Given the description of an element on the screen output the (x, y) to click on. 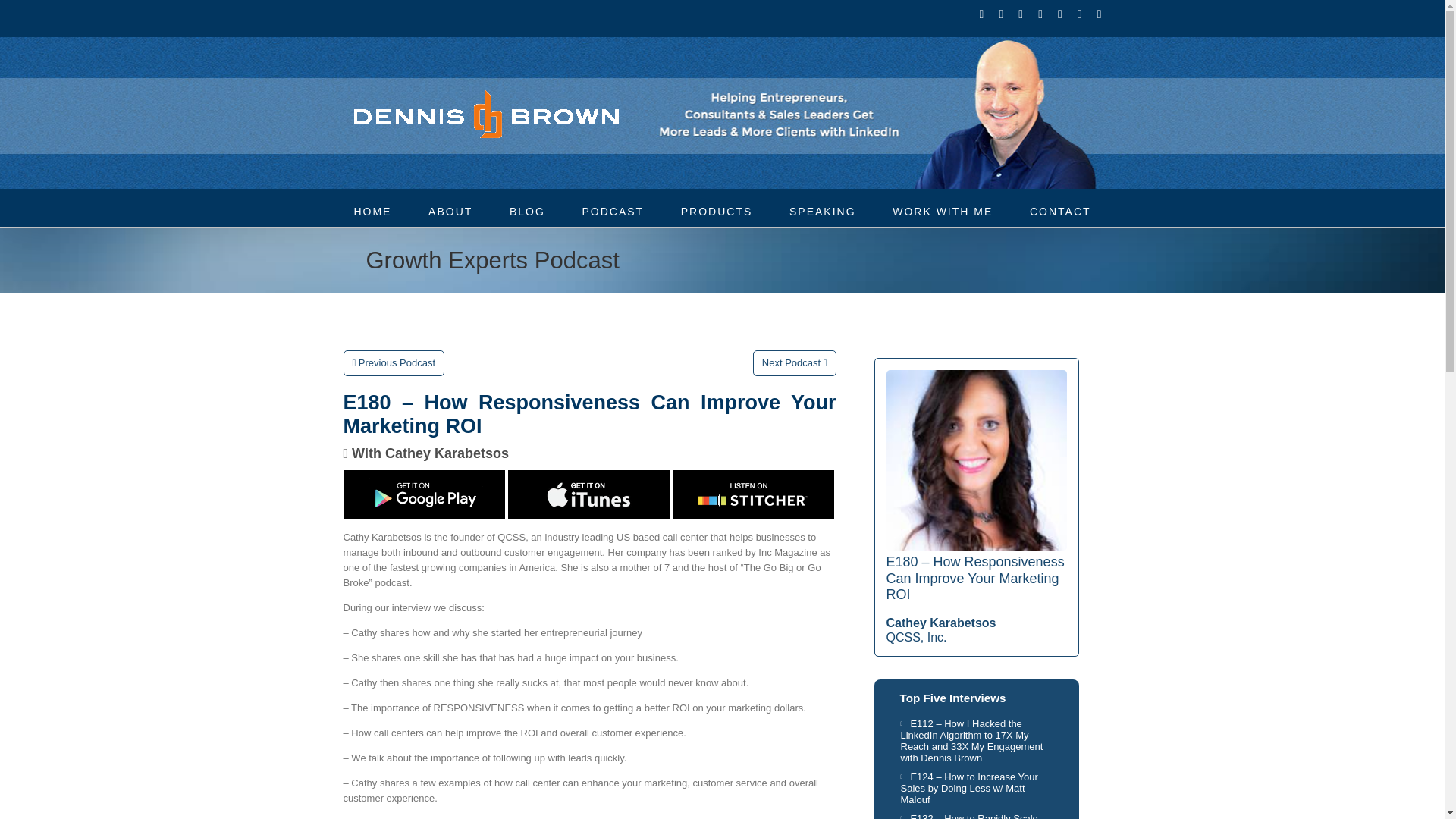
HOME (372, 210)
CONTACT (1059, 210)
ABOUT (449, 210)
BLOG (526, 210)
PRODUCTS (716, 210)
SPEAKING (822, 210)
PODCAST (611, 210)
WORK WITH ME (942, 210)
